Given the description of an element on the screen output the (x, y) to click on. 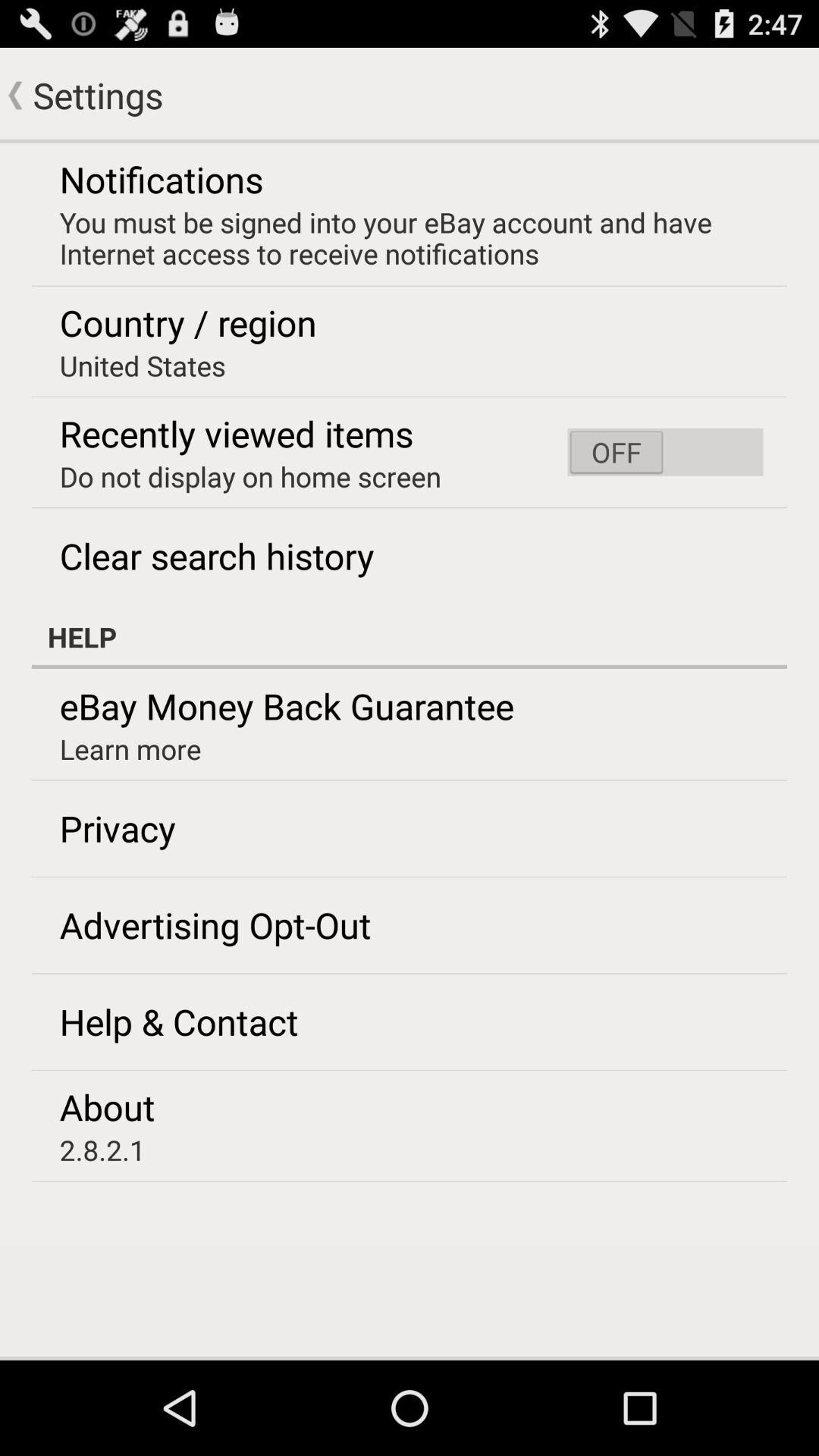
turn off the icon below help (286, 705)
